Given the description of an element on the screen output the (x, y) to click on. 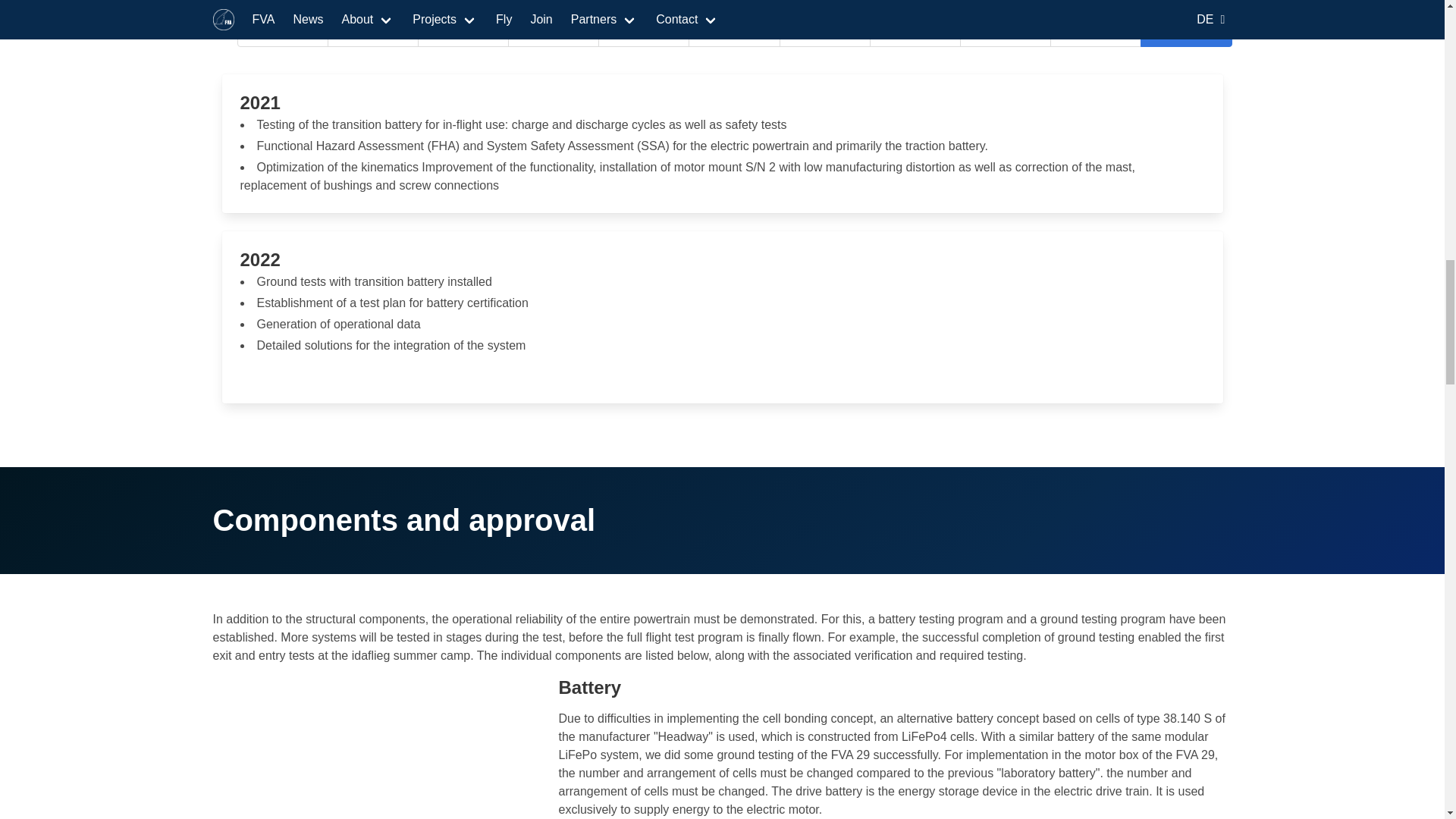
2020 (1005, 30)
2019 (914, 30)
2015 (553, 30)
2021 (1095, 30)
2012 (281, 30)
2013 (373, 30)
2018 (824, 30)
2016 (643, 30)
2017 (733, 30)
2014 (462, 30)
